Given the description of an element on the screen output the (x, y) to click on. 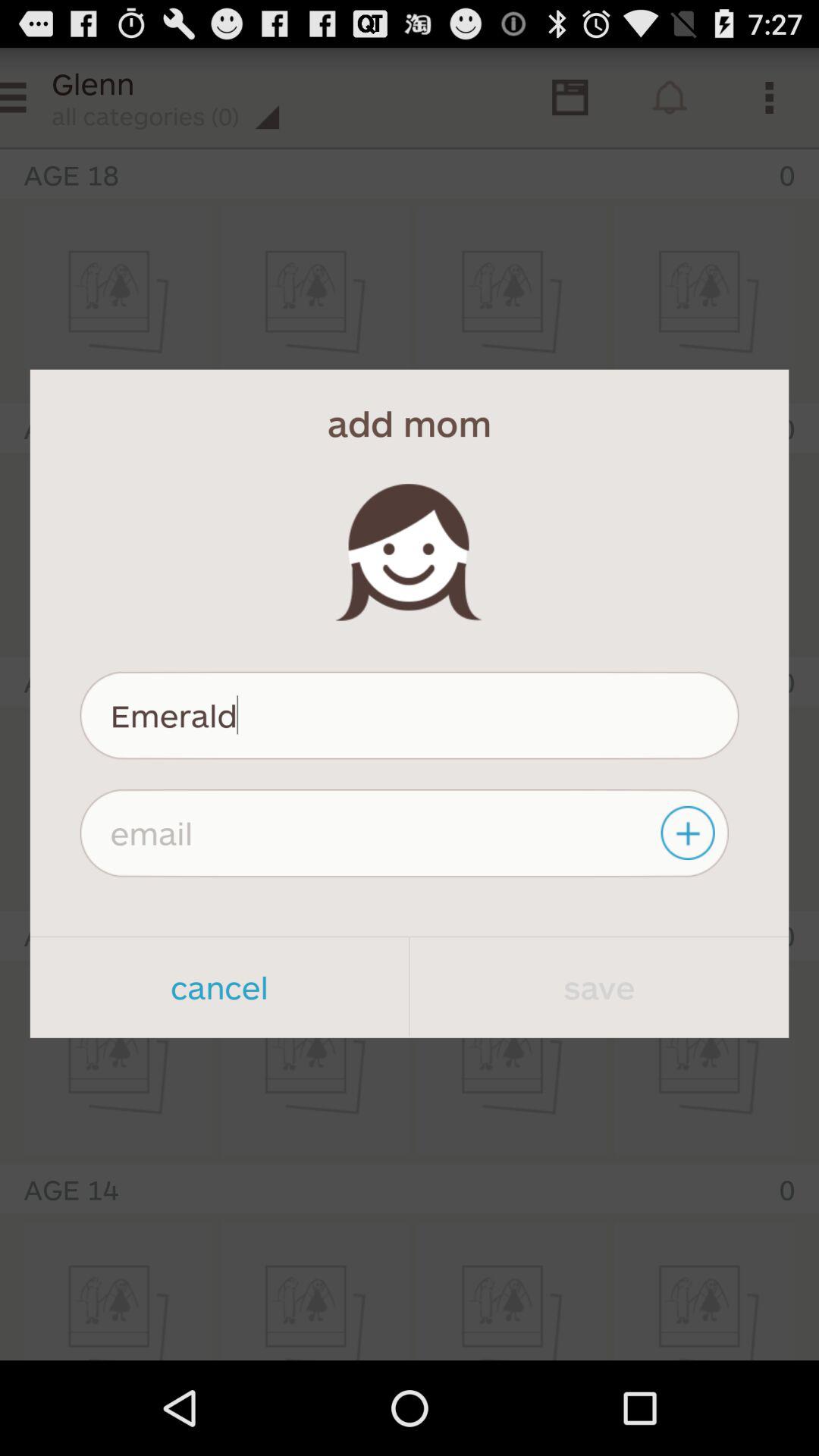
launch app at the bottom left corner (219, 986)
